Given the description of an element on the screen output the (x, y) to click on. 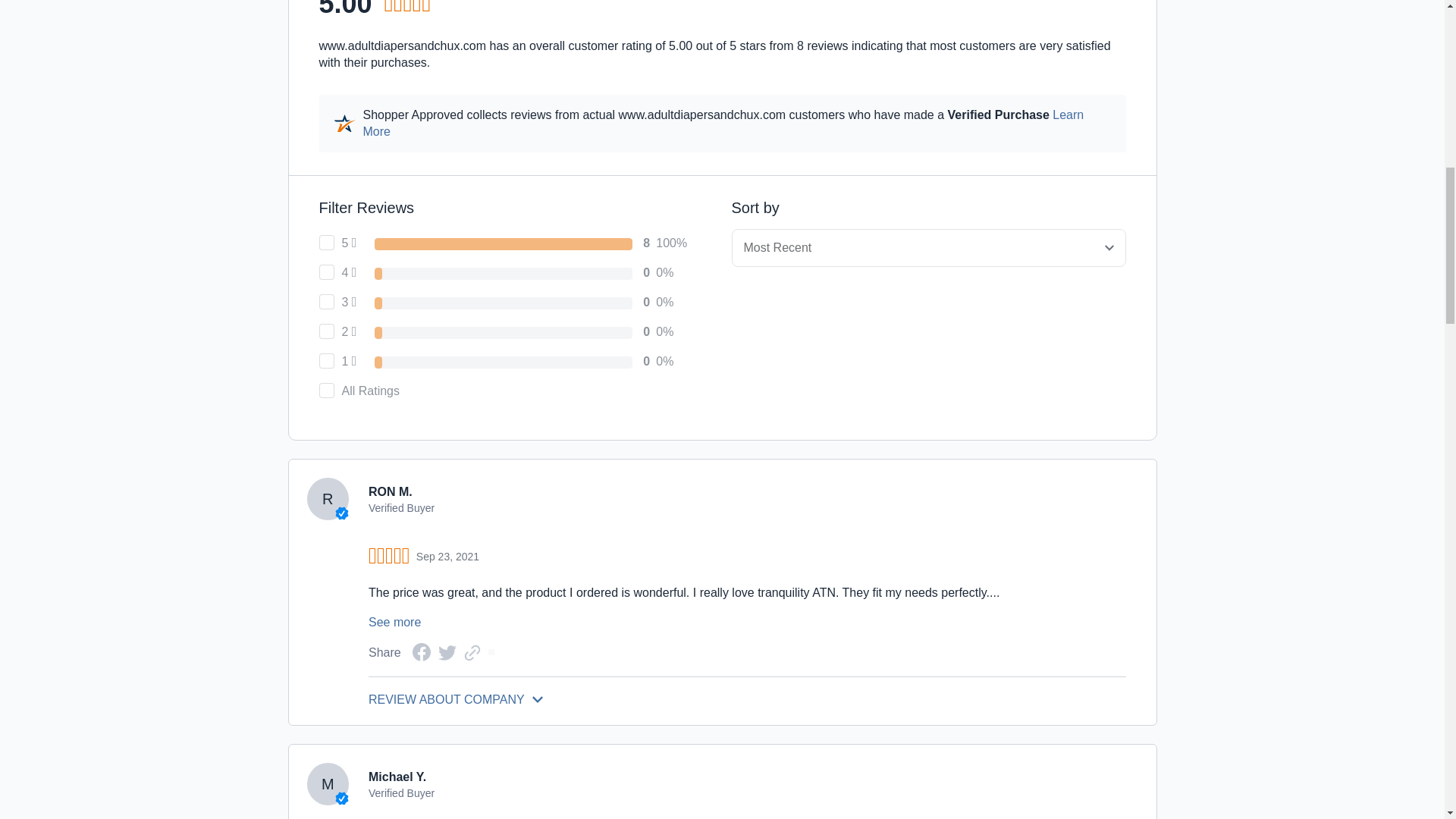
1 (325, 360)
all (325, 390)
See more (394, 621)
2 (325, 331)
REVIEW ABOUT COMPANY (746, 699)
5 (325, 242)
3 (325, 301)
Most Recent (927, 247)
Learn More (722, 123)
4 (325, 272)
